Given the description of an element on the screen output the (x, y) to click on. 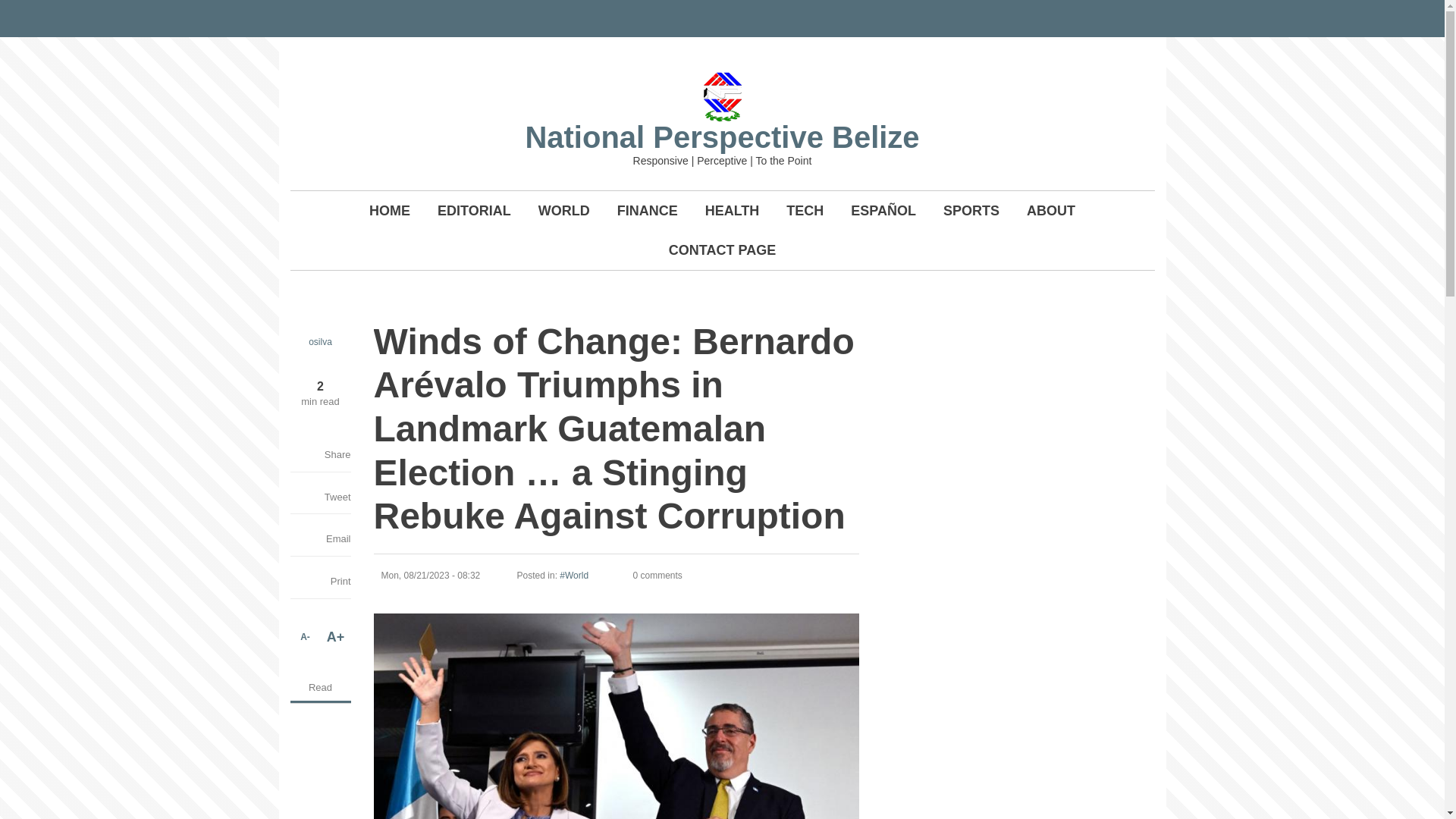
Special Contact page (722, 250)
Home (722, 95)
Home (721, 136)
View user profile. (319, 341)
About (1051, 210)
